Given the description of an element on the screen output the (x, y) to click on. 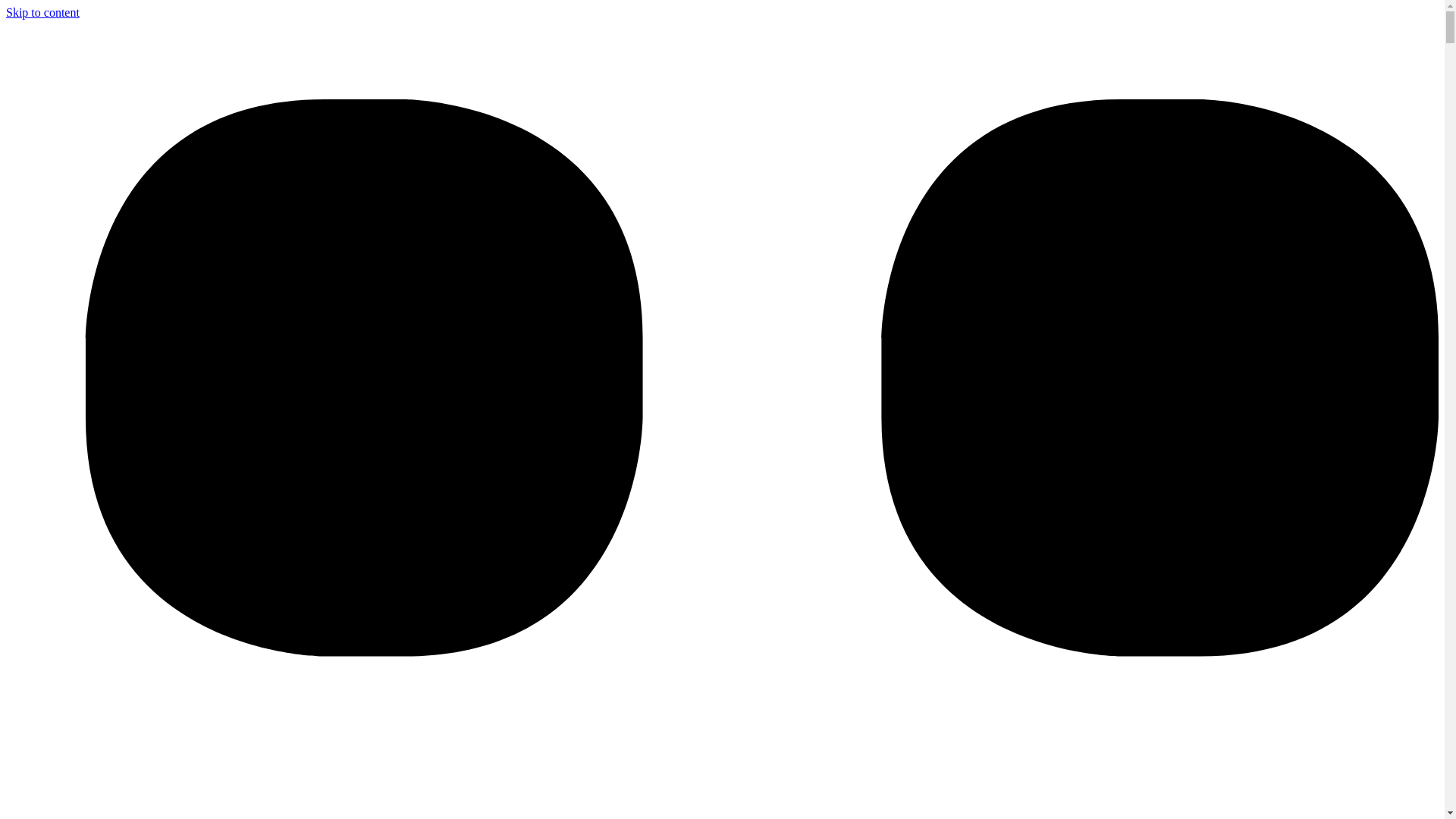
Skip to content (42, 11)
